Given the description of an element on the screen output the (x, y) to click on. 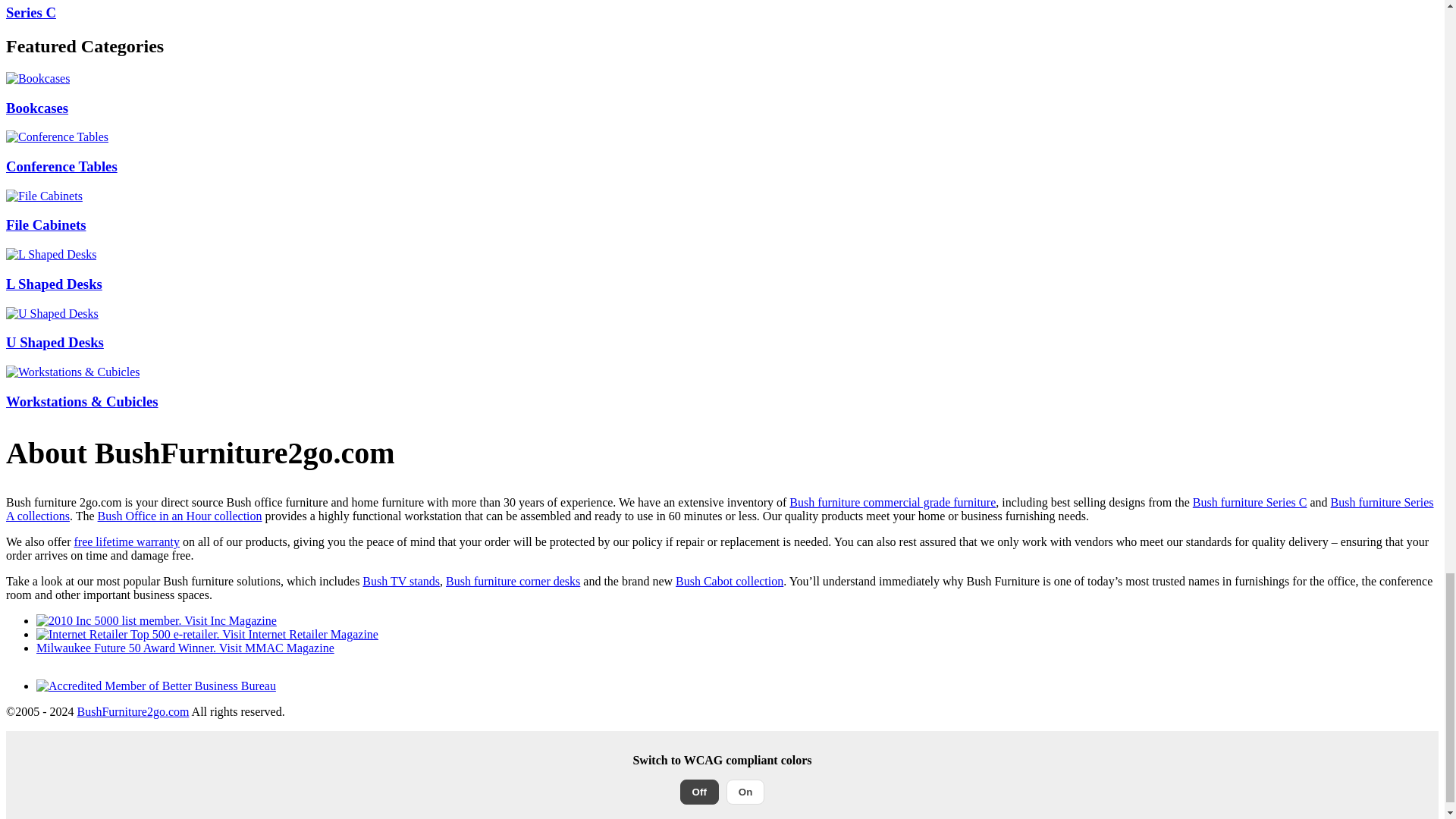
U Shaped Desks (52, 314)
Bookcases (37, 78)
L Shaped Desks (50, 254)
BushFurniture2go.com (133, 711)
File Cabinets (43, 196)
Everything2go.com, LLC BBB Business Review (156, 685)
Conference Tables (56, 137)
